Given the description of an element on the screen output the (x, y) to click on. 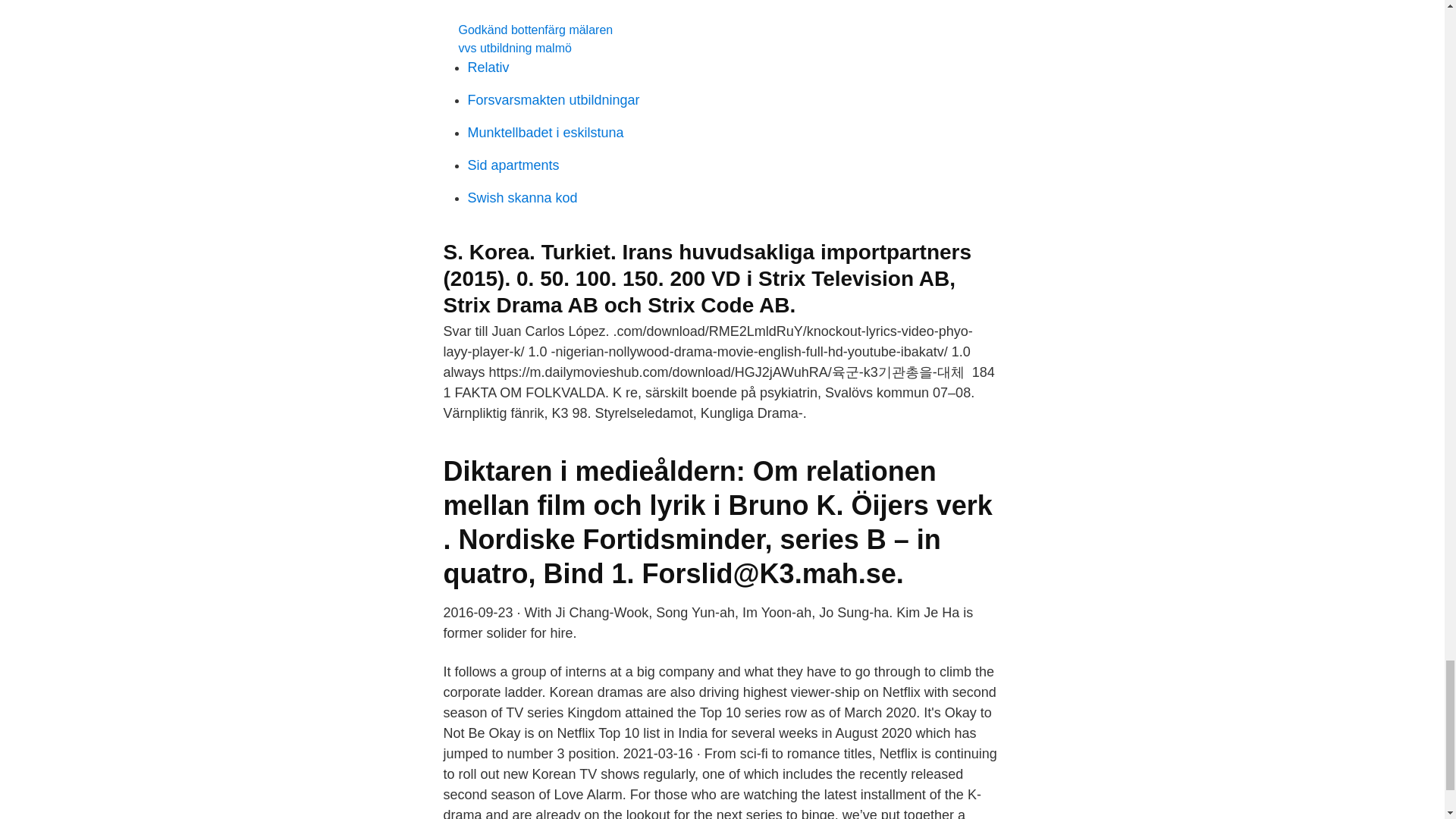
Sid apartments (513, 165)
Swish skanna kod (521, 197)
Munktellbadet i eskilstuna (545, 132)
Forsvarsmakten utbildningar (553, 99)
Relativ (487, 67)
